Given the description of an element on the screen output the (x, y) to click on. 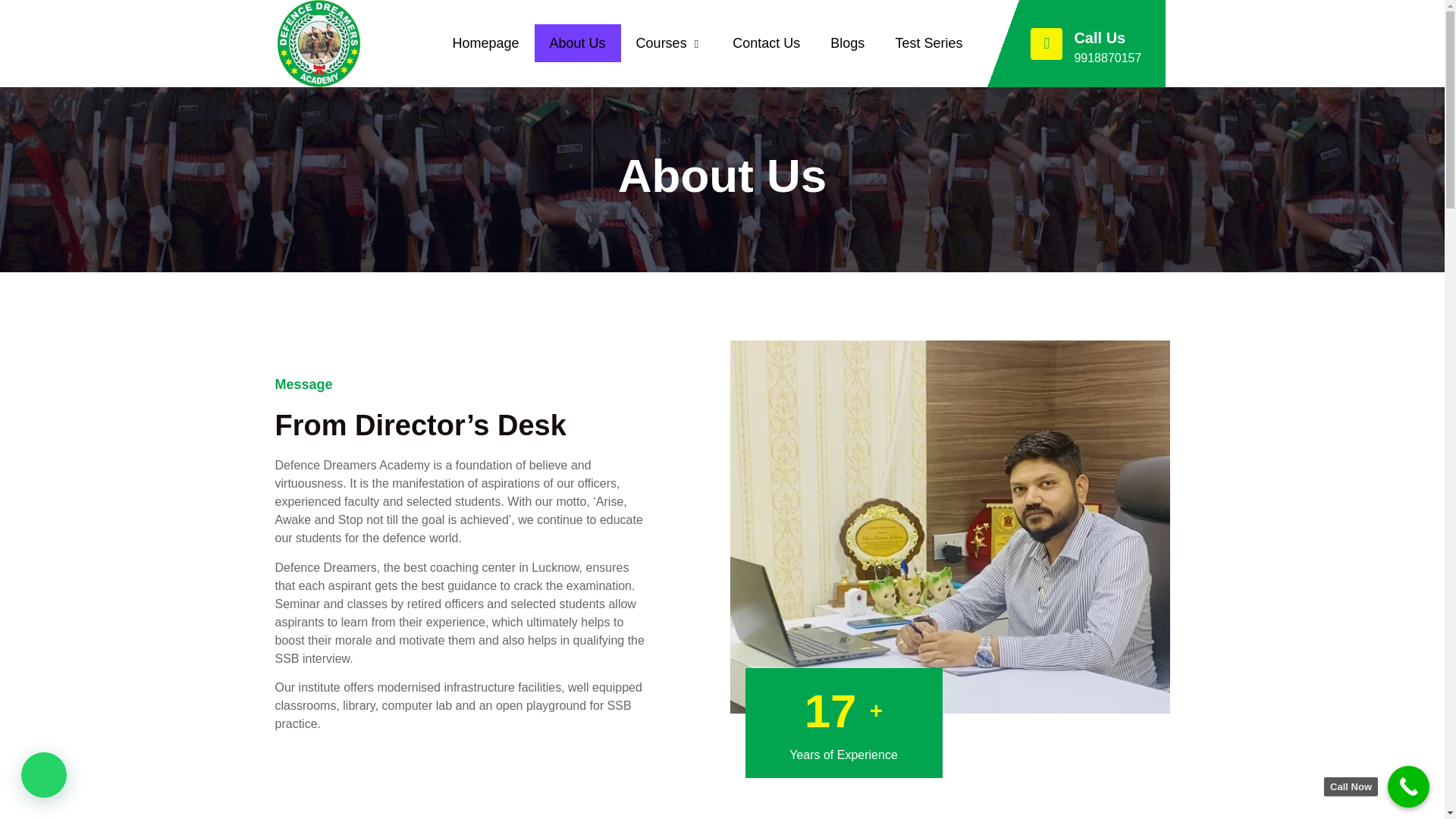
Homepage (485, 43)
Courses (669, 43)
Call Us (1099, 37)
Contact Us (766, 43)
About Us (577, 43)
Test Series (927, 43)
Blogs (847, 43)
